Given the description of an element on the screen output the (x, y) to click on. 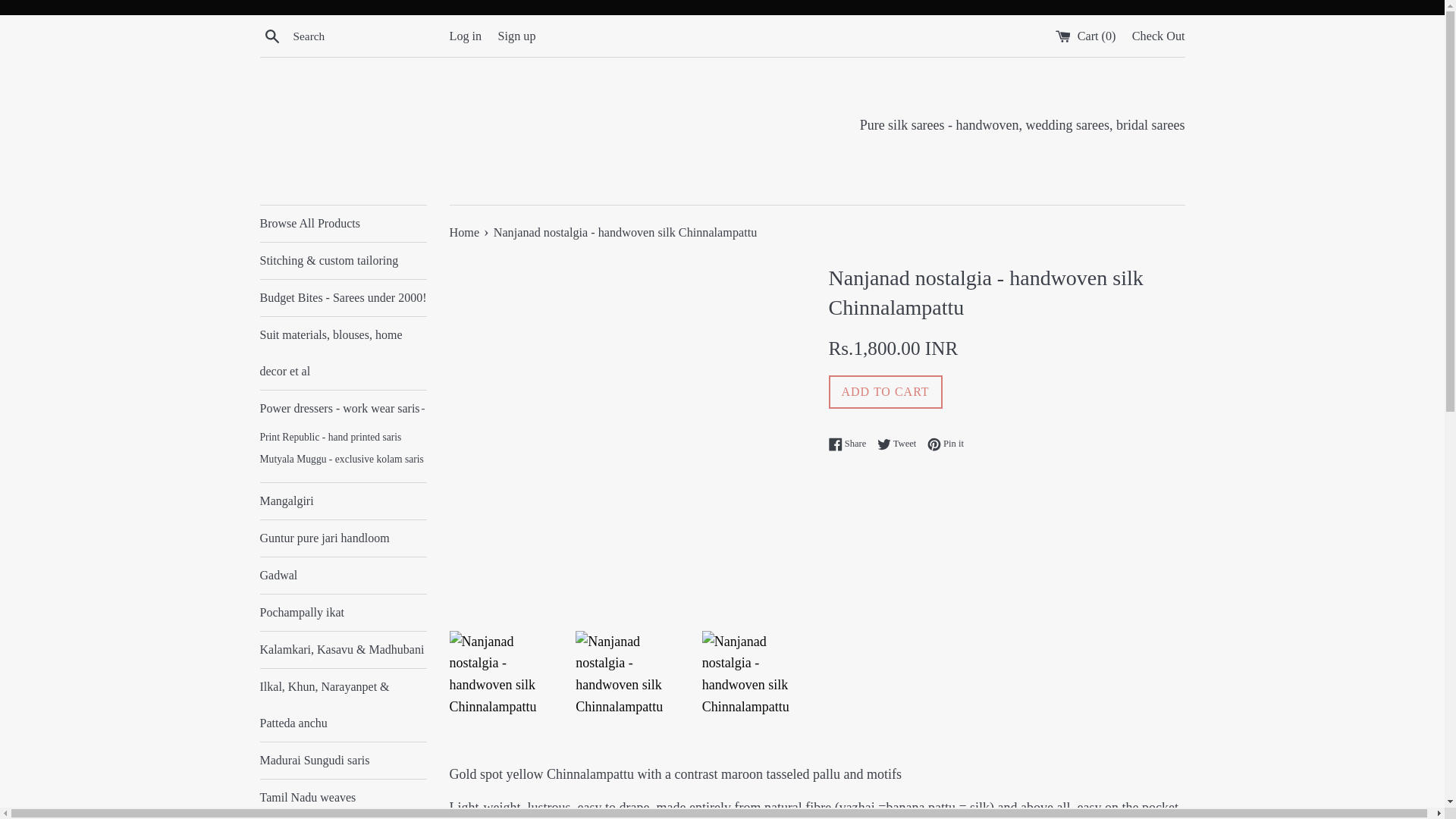
Tweet on Twitter (900, 443)
Log in (464, 35)
Sign up (342, 408)
Share on Facebook (516, 35)
Check Out (850, 443)
Print Republic - hand printed saris (1158, 35)
Mutyala Muggu - exclusive kolam saris (342, 437)
Tamil Nadu weaves (342, 459)
Madurai Sungudi saris (342, 797)
